Given the description of an element on the screen output the (x, y) to click on. 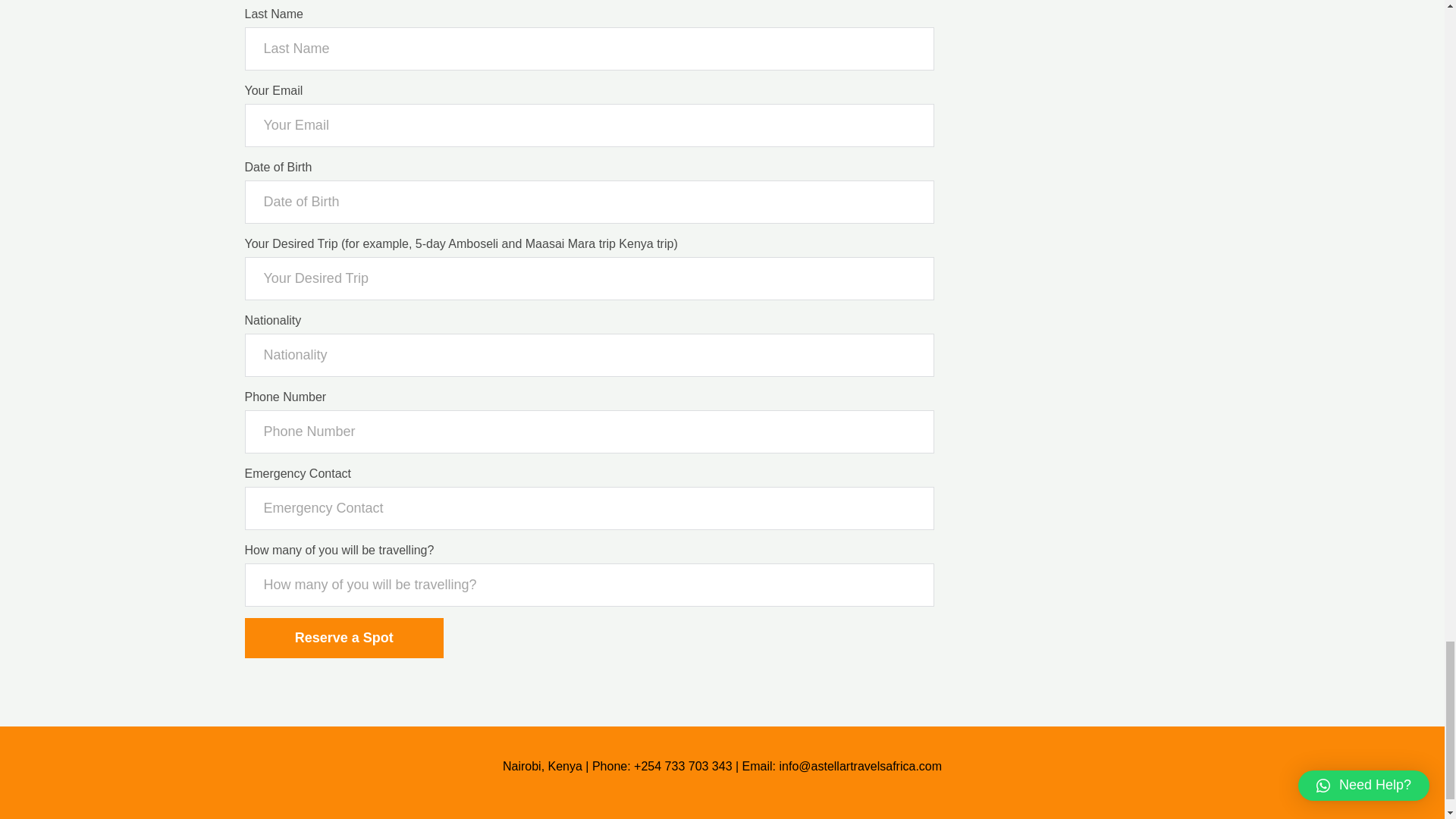
Reserve a Spot (343, 638)
